Given the description of an element on the screen output the (x, y) to click on. 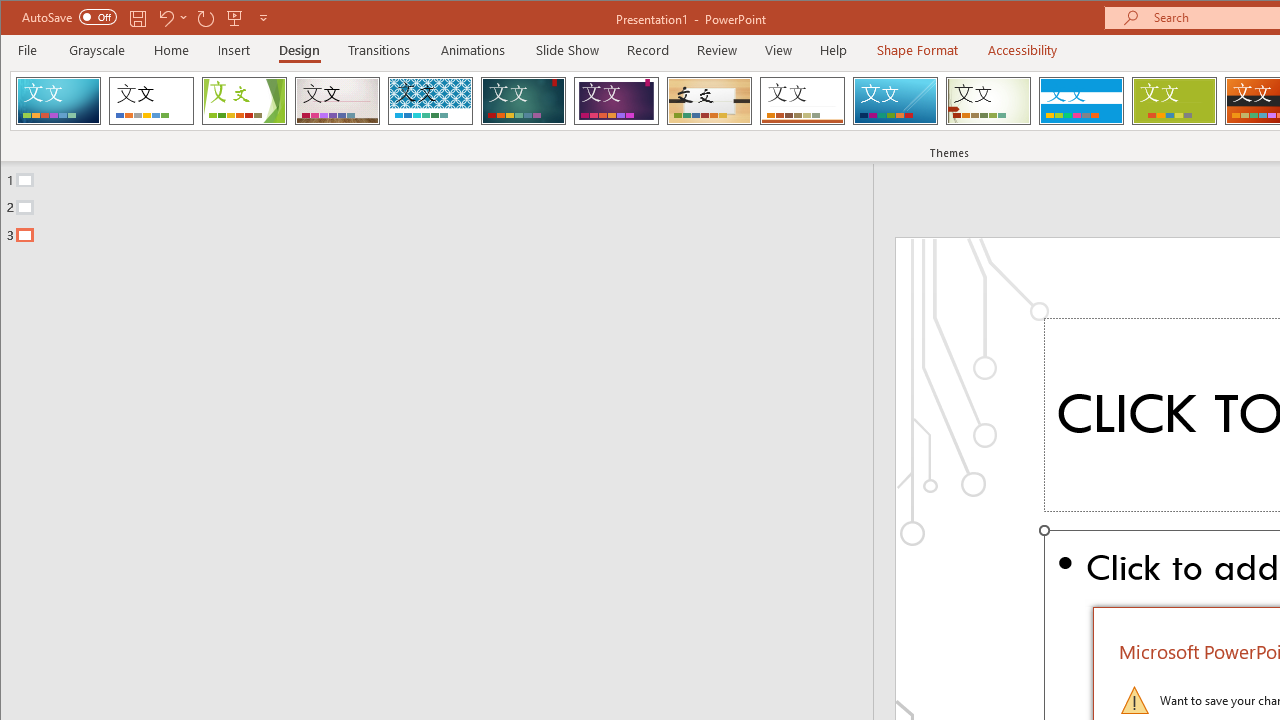
Dividend (57, 100)
Warning Icon (1134, 699)
Facet (244, 100)
Organic (709, 100)
Slice (895, 100)
Integral (430, 100)
Office Theme (151, 100)
